Given the description of an element on the screen output the (x, y) to click on. 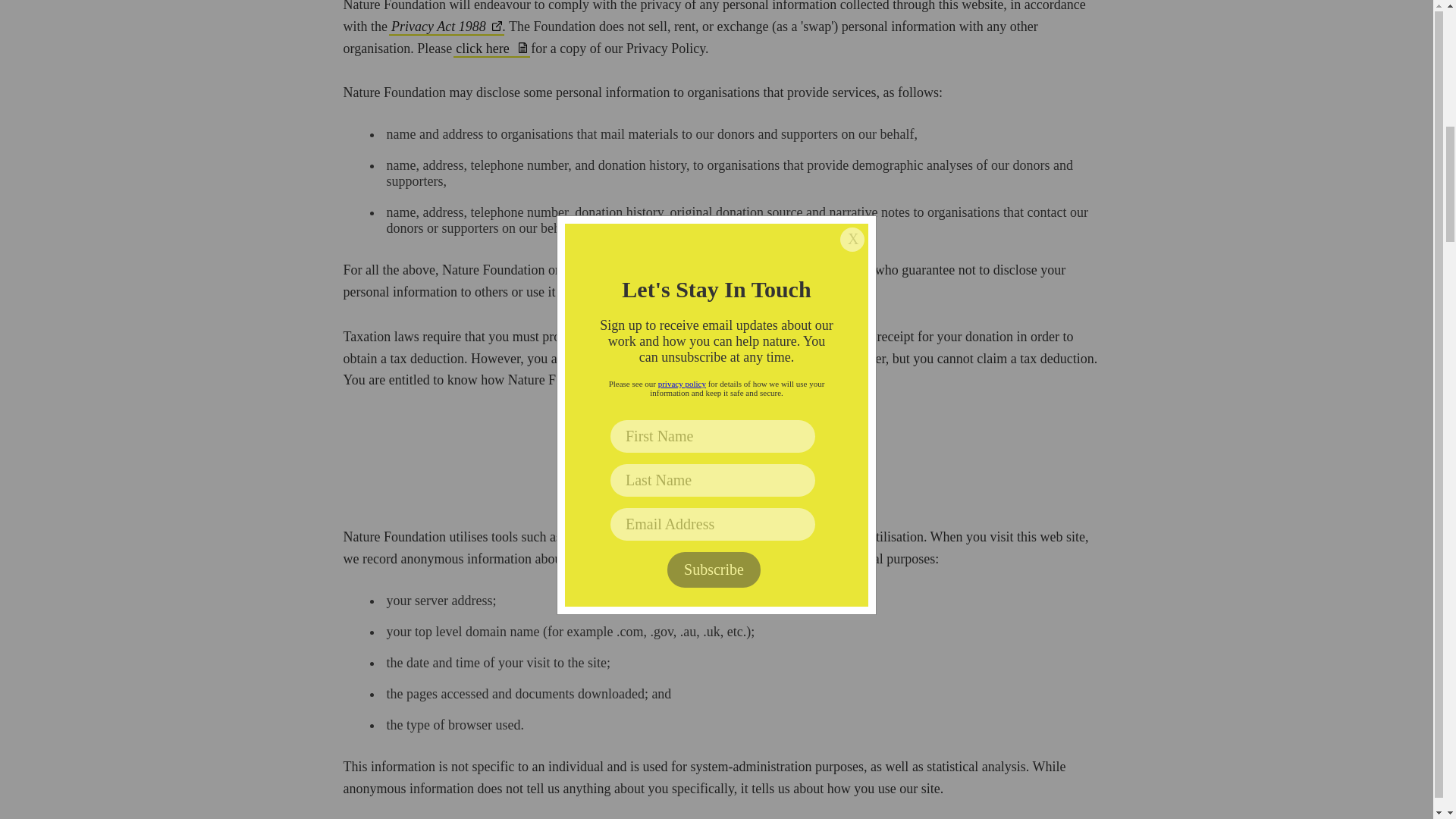
click here (490, 48)
Privacy Act 1988 (445, 27)
